Given the description of an element on the screen output the (x, y) to click on. 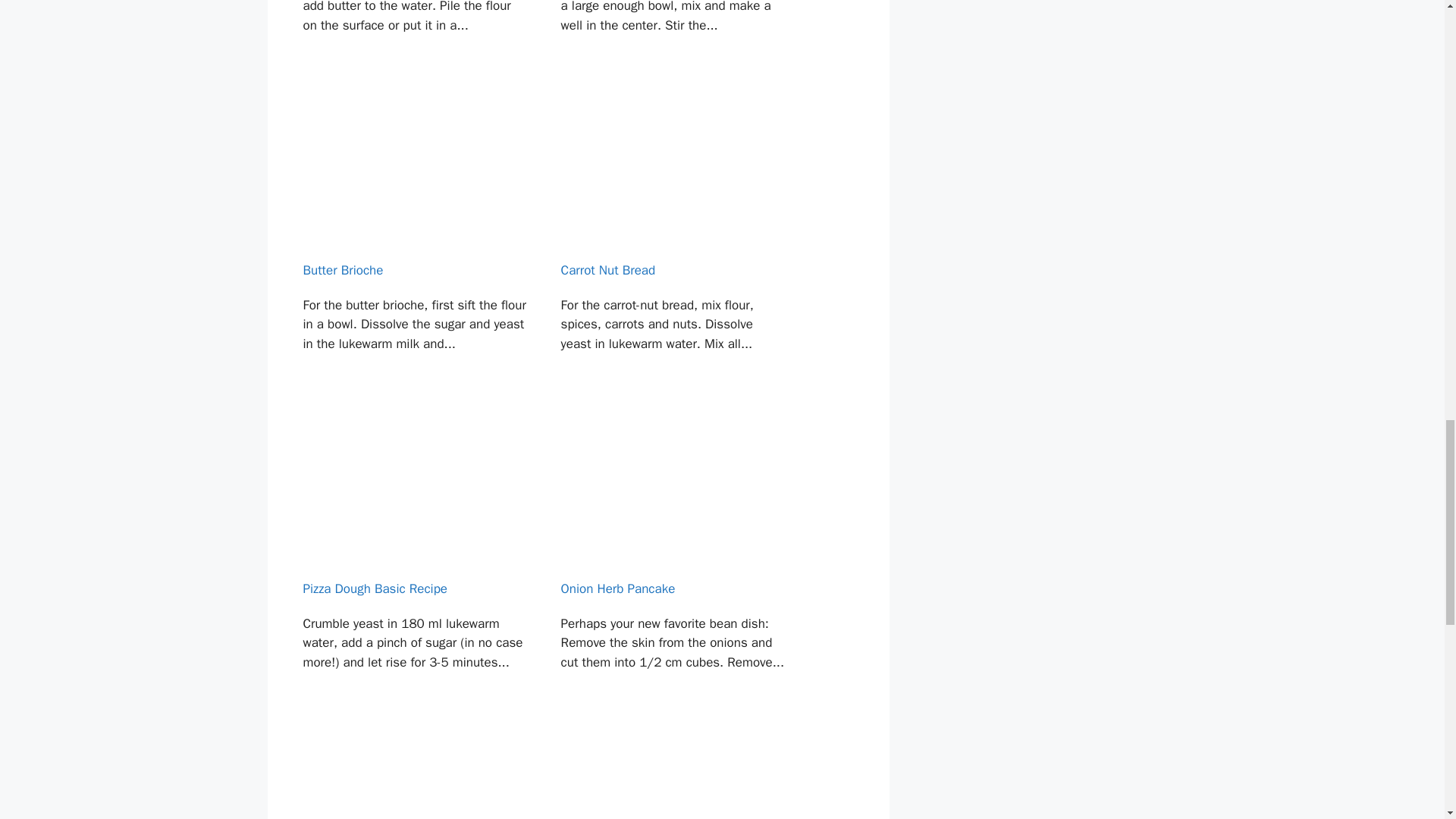
Langsemmeln (414, 775)
Strong Wheat Bread (673, 43)
Nut Bread (414, 43)
Chestnut Potato Bread (673, 775)
